Given the description of an element on the screen output the (x, y) to click on. 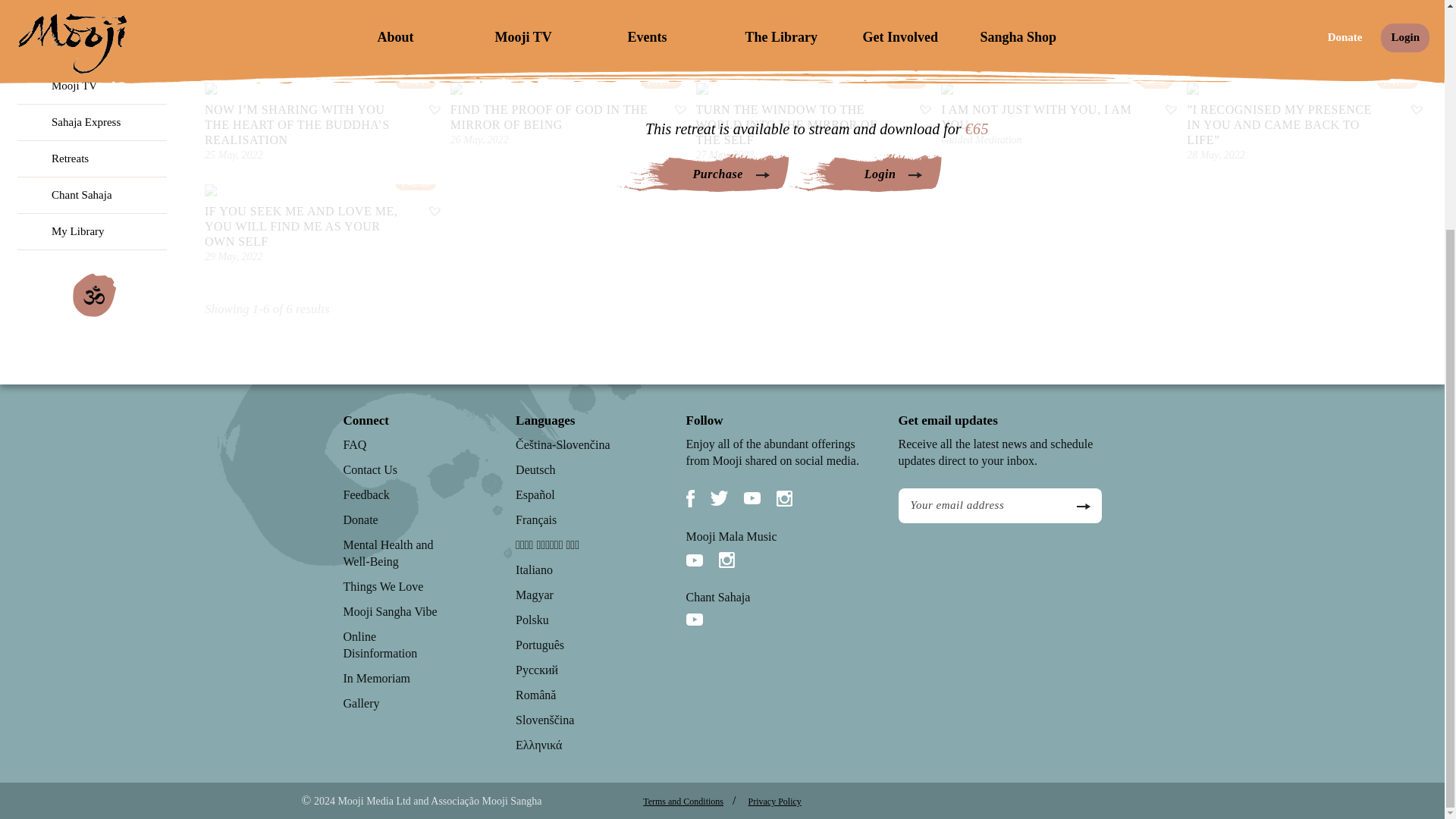
Favourite (433, 111)
Watch a randomly chosen video (94, 76)
Favourite (1415, 111)
Favourite (433, 212)
Favourite (924, 111)
Favourite (1169, 111)
Favourite (679, 111)
